Given the description of an element on the screen output the (x, y) to click on. 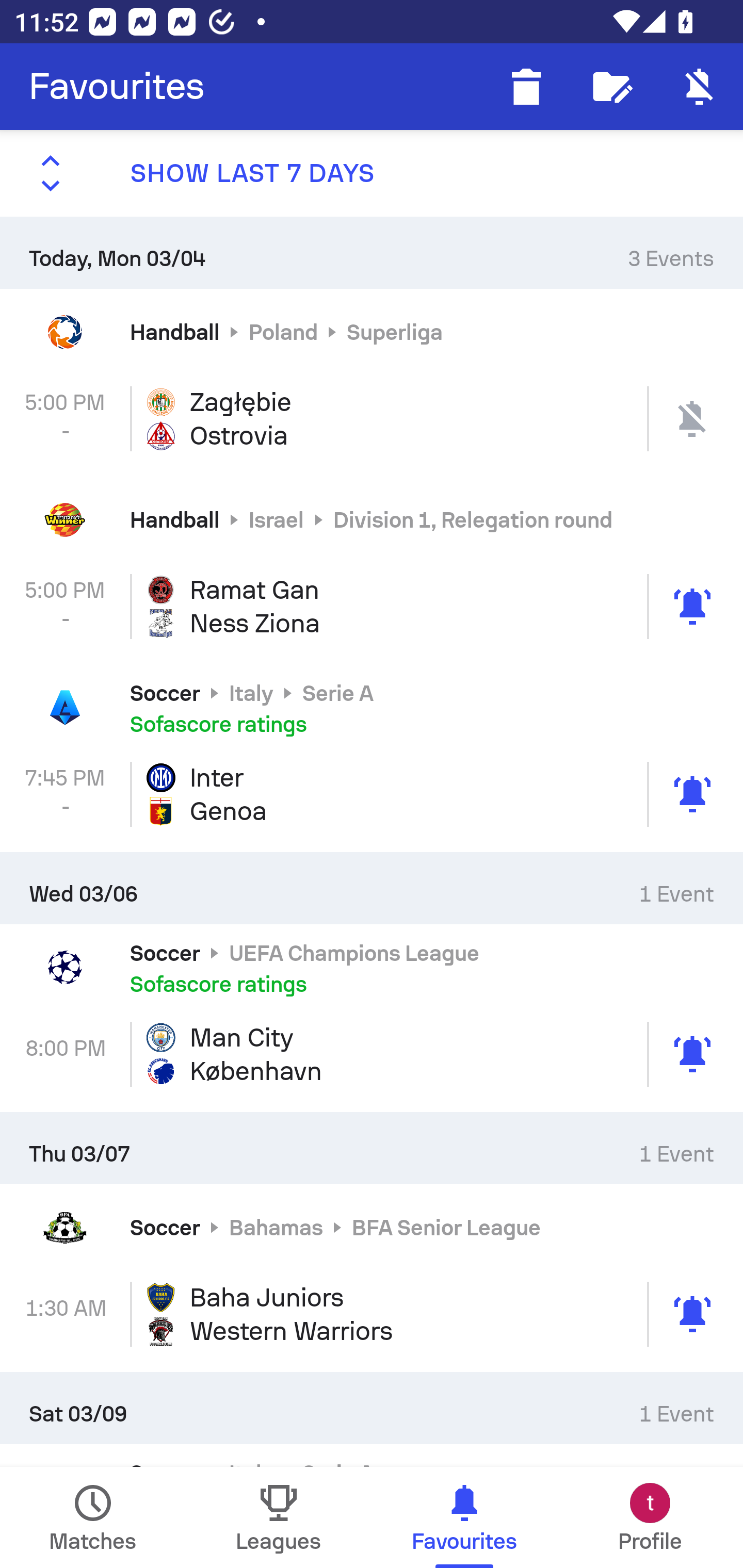
Favourites (116, 86)
Delete finished (525, 86)
Follow editor (612, 86)
Enable notifications (699, 86)
SHOW LAST 7 DAYS (371, 173)
Today, Mon 03/04 3 Events (371, 252)
Handball Poland Superliga (371, 331)
5:00 PM - Zagłębie Ostrovia (371, 418)
Handball Israel Division 1, Relegation round (371, 519)
5:00 PM - Ramat Gan Ness Ziona (371, 605)
Soccer Italy Serie A Sofascore ratings (371, 707)
7:45 PM - Inter Genoa (371, 794)
Wed 03/06 1 Event (371, 887)
Soccer UEFA Champions League Sofascore ratings (371, 967)
8:00 PM Man City København (371, 1054)
Thu 03/07 1 Event (371, 1147)
Soccer Bahamas BFA Senior League (371, 1227)
1:30 AM Baha Juniors Western Warriors (371, 1314)
Sat 03/09 1 Event (371, 1408)
Matches (92, 1517)
Leagues (278, 1517)
Profile (650, 1517)
